Given the description of an element on the screen output the (x, y) to click on. 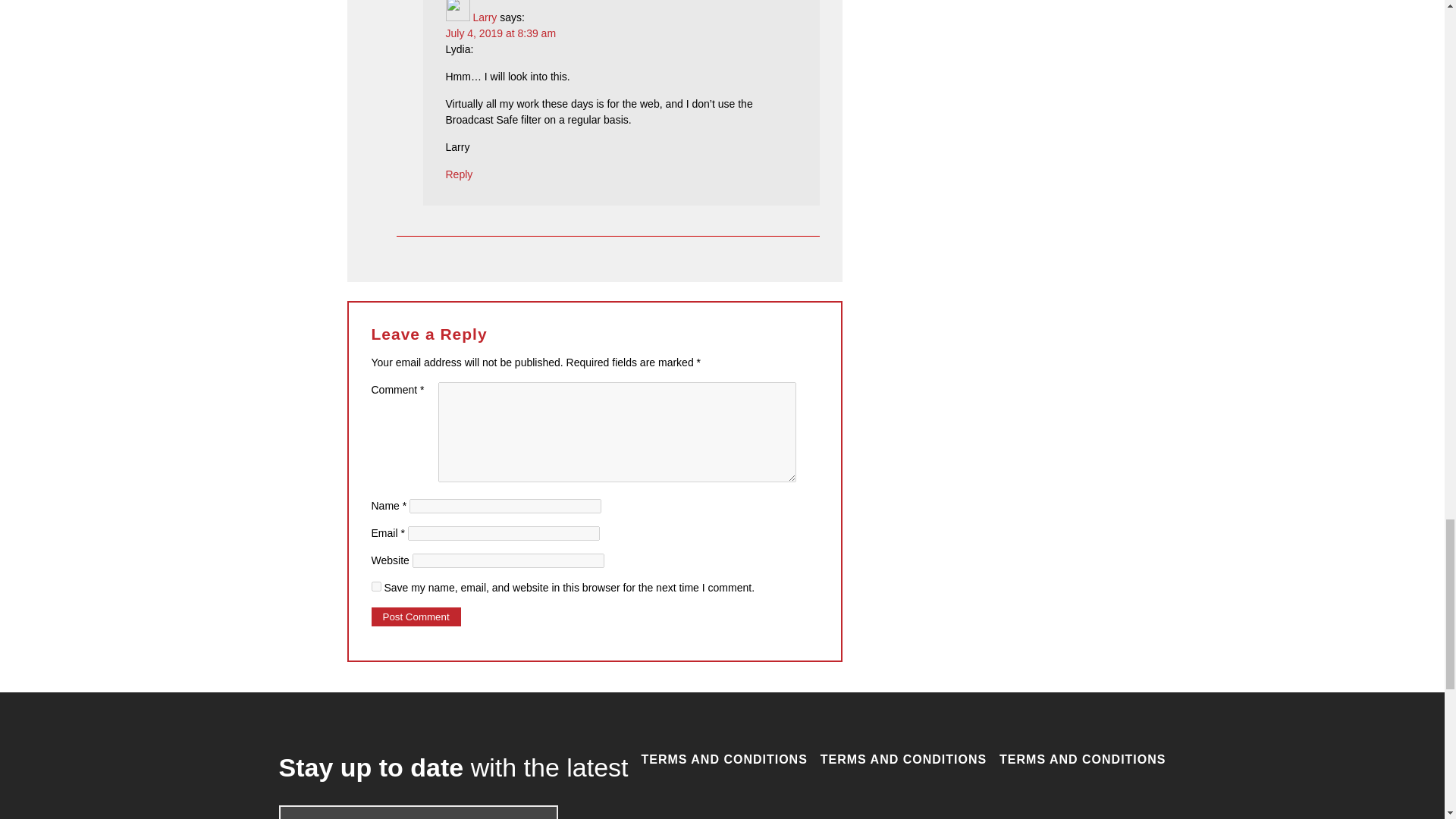
Post Comment (416, 616)
yes (376, 586)
